Given the description of an element on the screen output the (x, y) to click on. 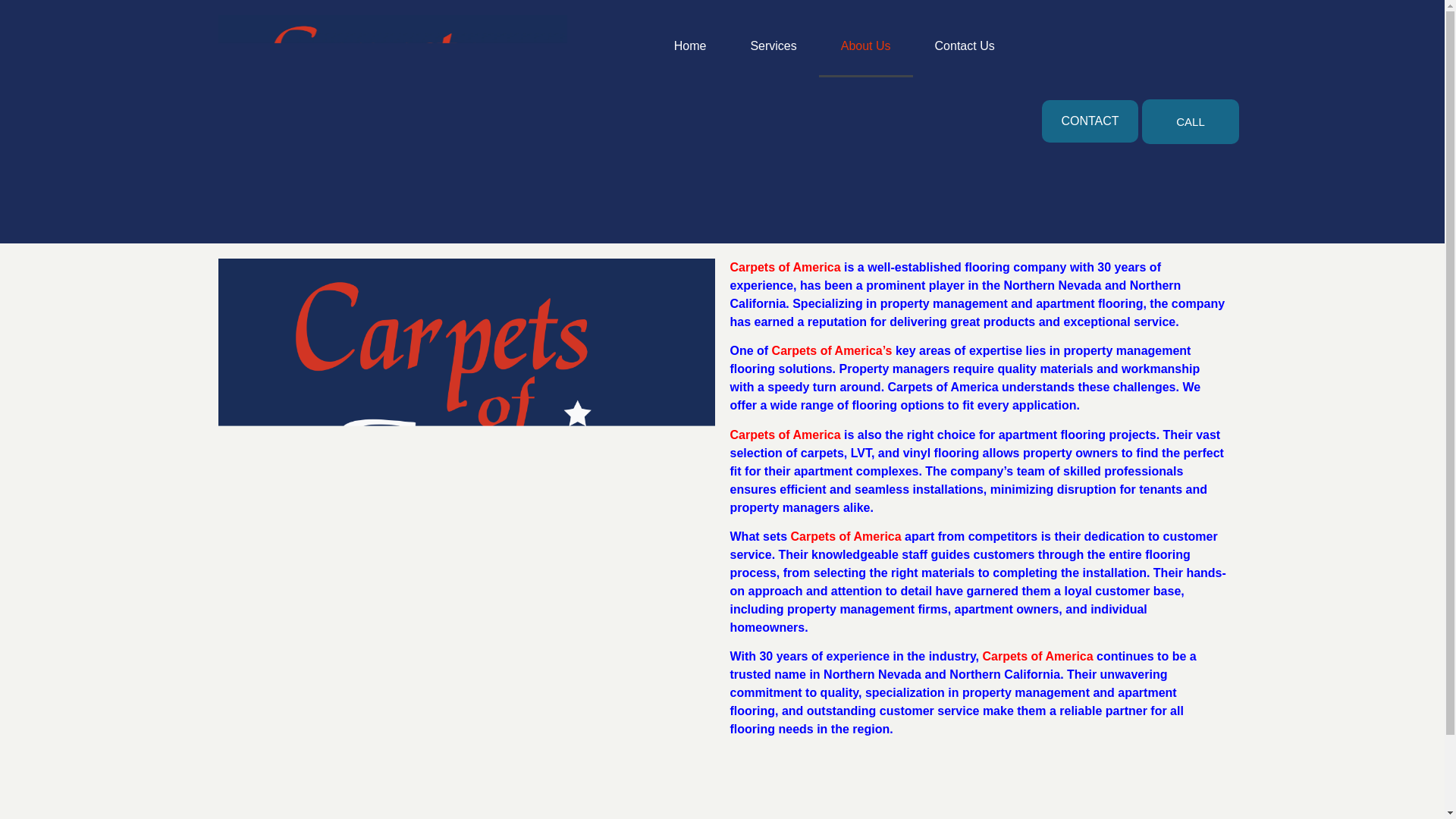
Home (690, 45)
CALL (1190, 121)
Services (773, 45)
Contact Us (964, 45)
About Us (865, 45)
CONTACT (1089, 120)
Open AIPRM sidebar (977, 777)
